Given the description of an element on the screen output the (x, y) to click on. 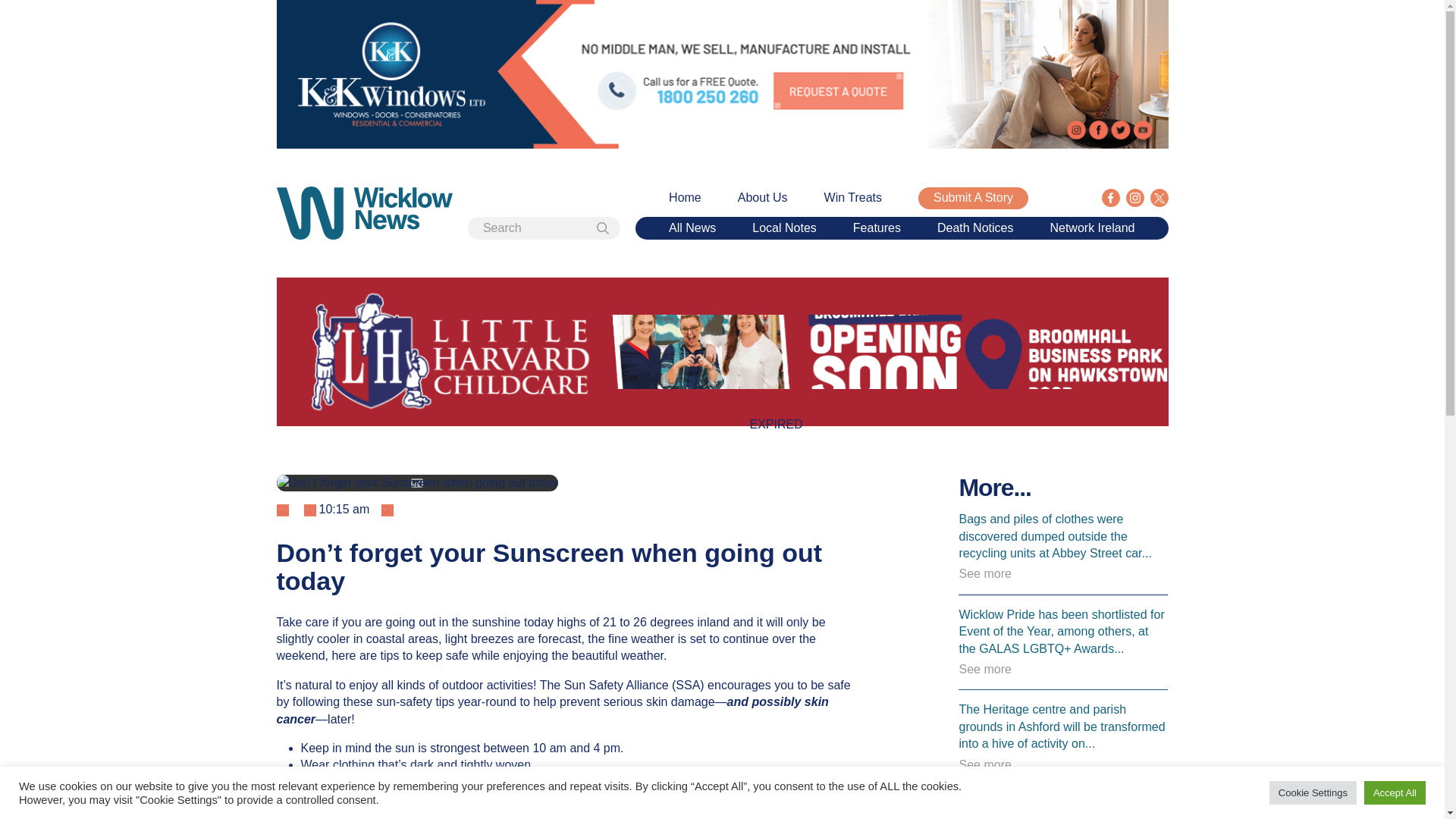
About Us (762, 197)
Features (876, 228)
Submit A Story (972, 197)
Home (684, 197)
Death Notices (975, 228)
Local Notes (783, 228)
Win Treats (853, 197)
All News (691, 228)
